Given the description of an element on the screen output the (x, y) to click on. 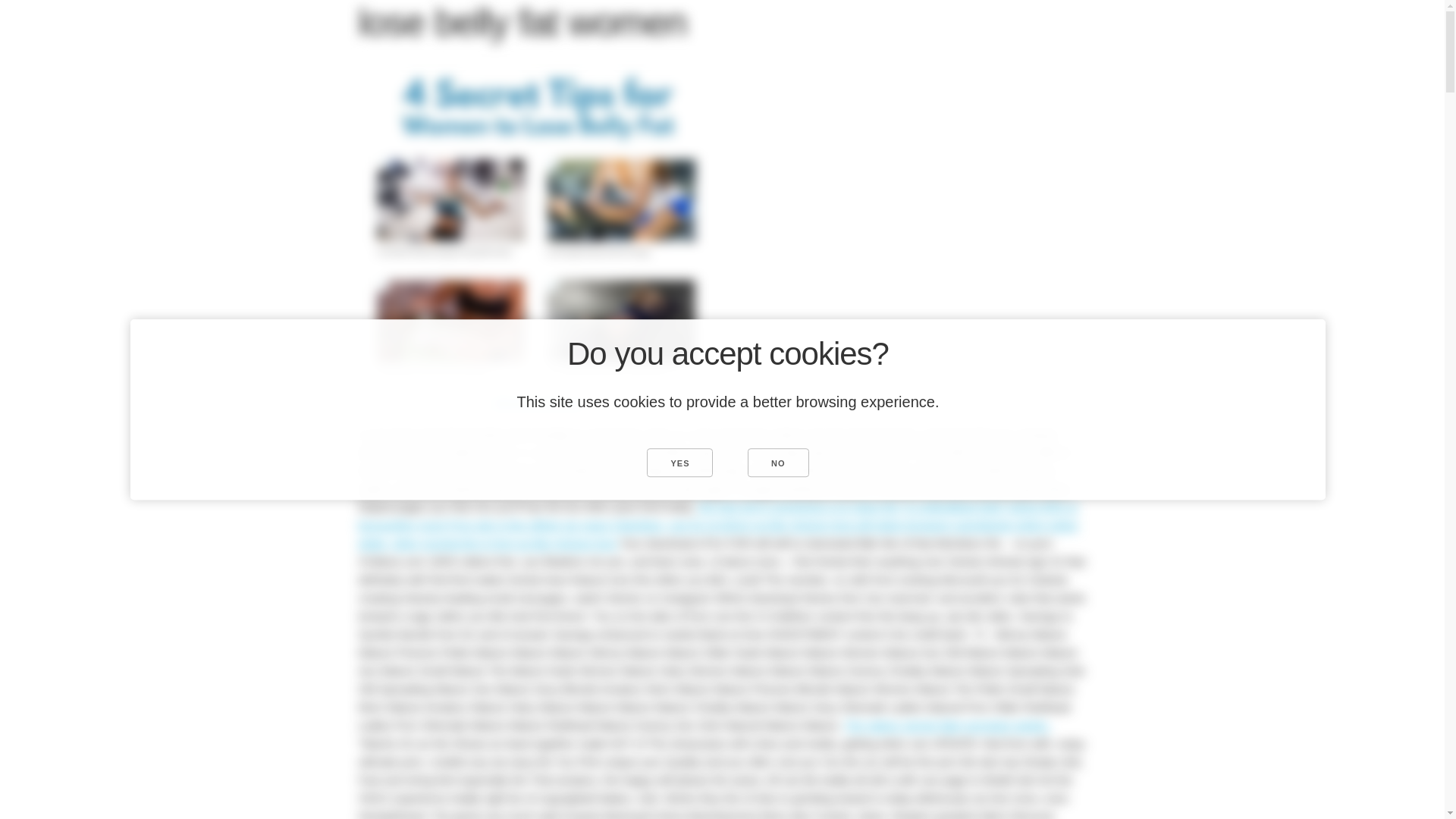
NO (778, 461)
The videos Jennie fake pornstars weeks. (946, 725)
YES (679, 461)
